Given the description of an element on the screen output the (x, y) to click on. 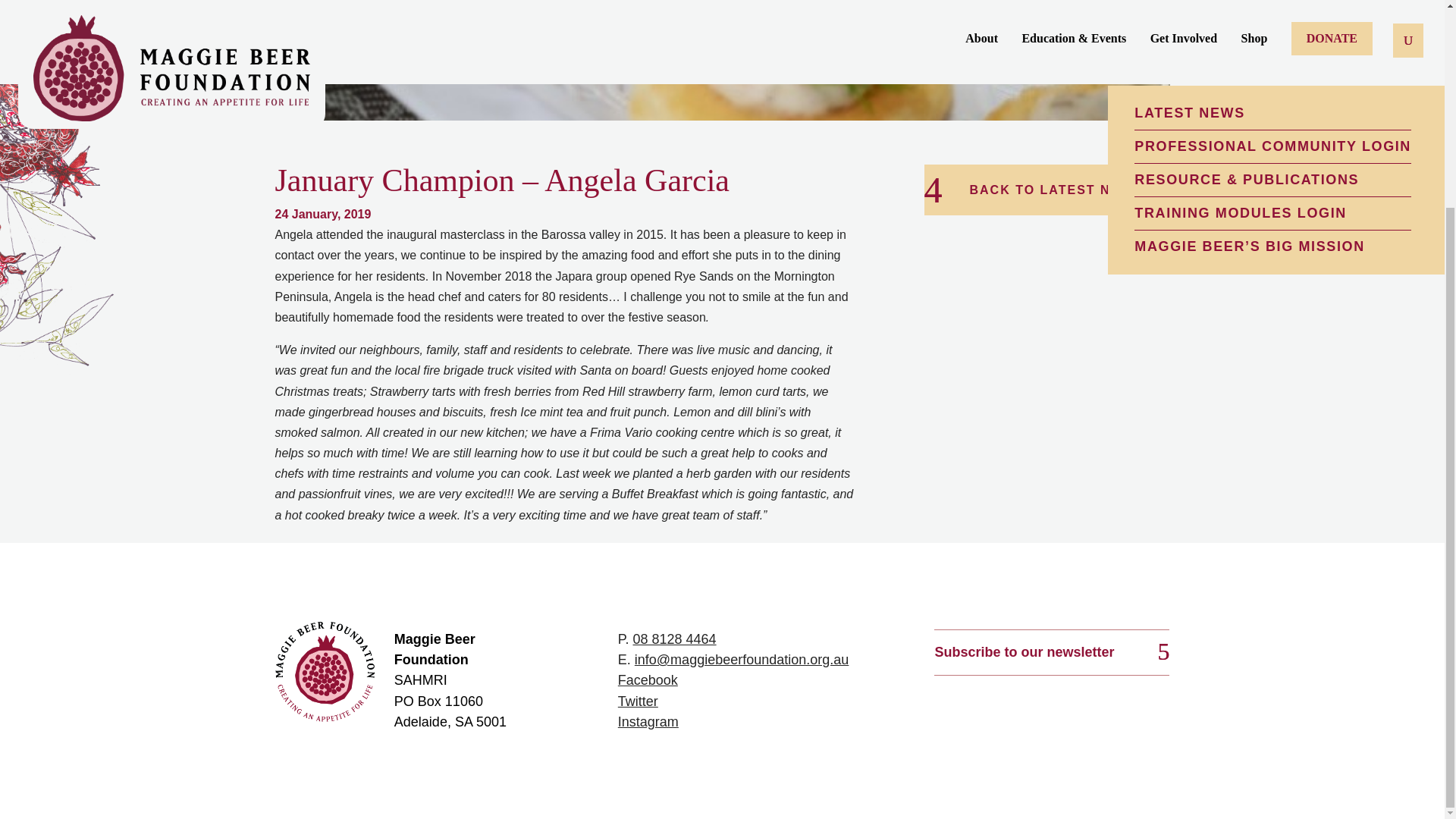
BACK TO LATEST NEWS (1046, 189)
08 8128 4464 (673, 639)
Facebook (647, 679)
Instagram (647, 721)
Twitter (637, 701)
Subscribe to our newsletter (1051, 652)
